Given the description of an element on the screen output the (x, y) to click on. 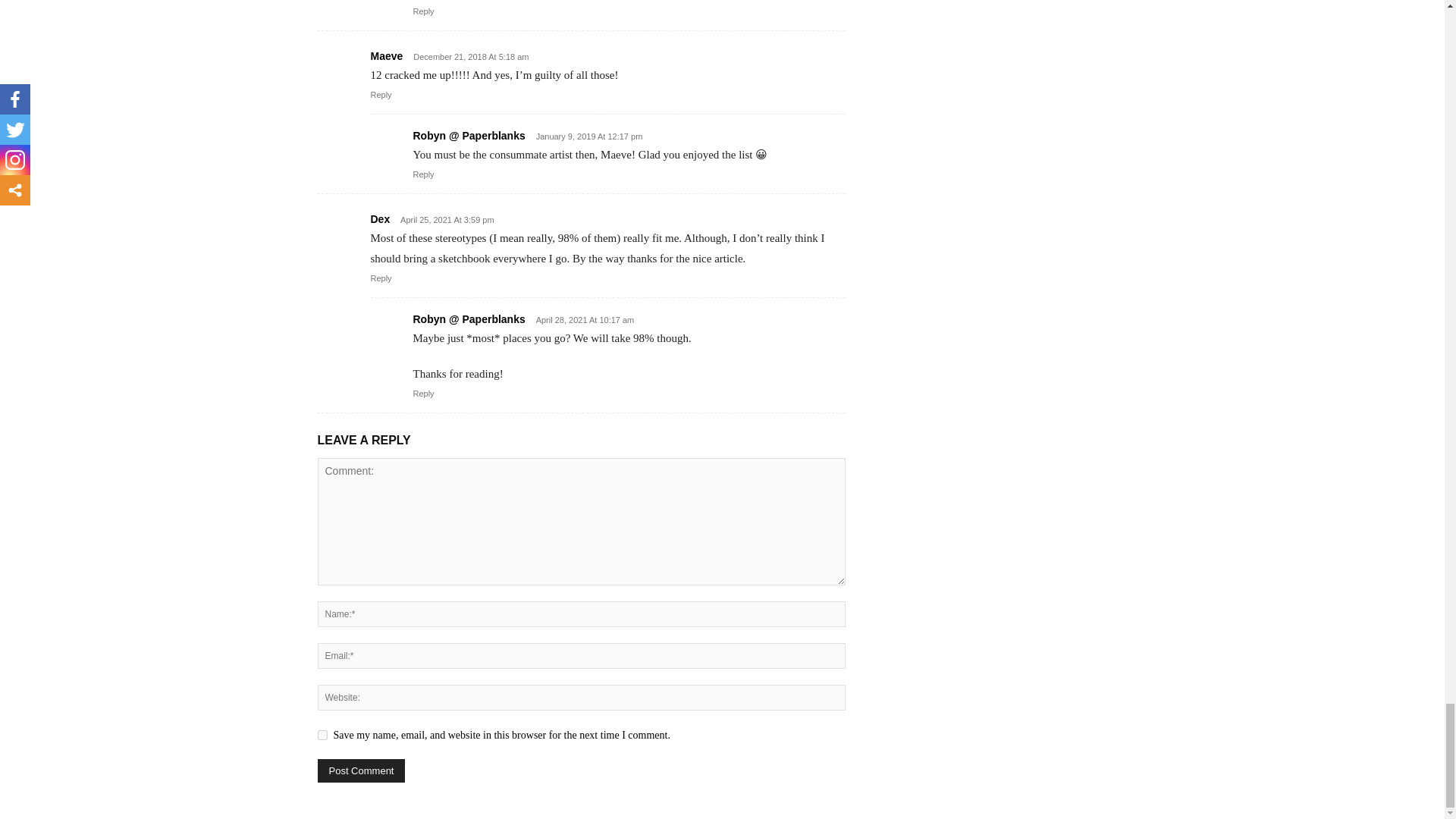
yes (321, 735)
Post Comment (360, 770)
